Given the description of an element on the screen output the (x, y) to click on. 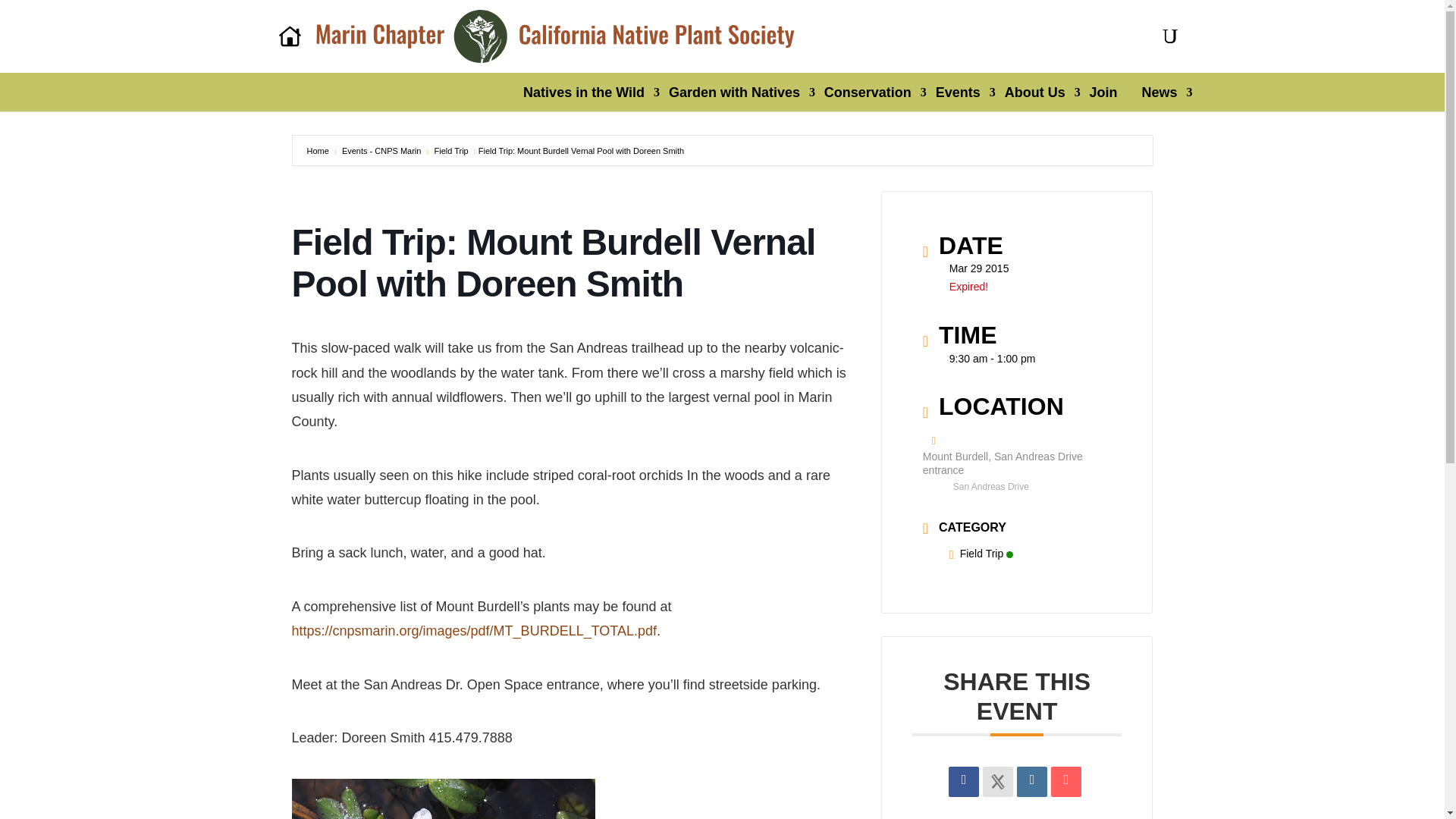
Garden with Natives (733, 92)
Events (957, 92)
Email (1066, 781)
Linkedin (1031, 781)
Natives in the Wild (583, 92)
Conservation (867, 92)
X Social Network (997, 781)
Share on Facebook (963, 781)
